Given the description of an element on the screen output the (x, y) to click on. 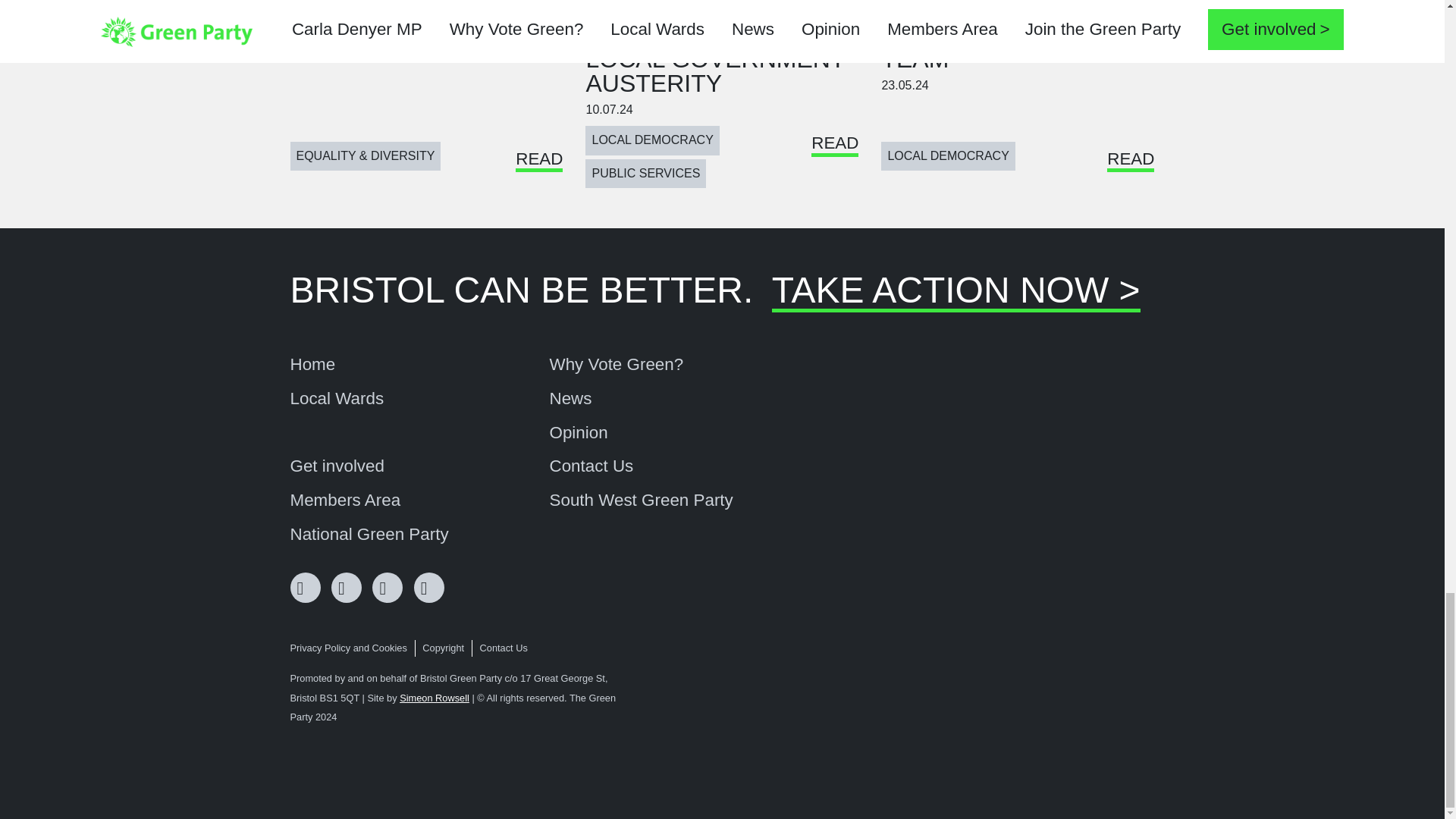
Members Area (344, 500)
LOCAL DEMOCRACY (652, 140)
Get involved (336, 466)
National Green Party (368, 534)
Green Party Logo (1097, 725)
Home (311, 364)
Opinion (577, 433)
LOCAL DEMOCRACY (947, 155)
Why Vote Green? (615, 364)
South West Green Party (640, 500)
